Given the description of an element on the screen output the (x, y) to click on. 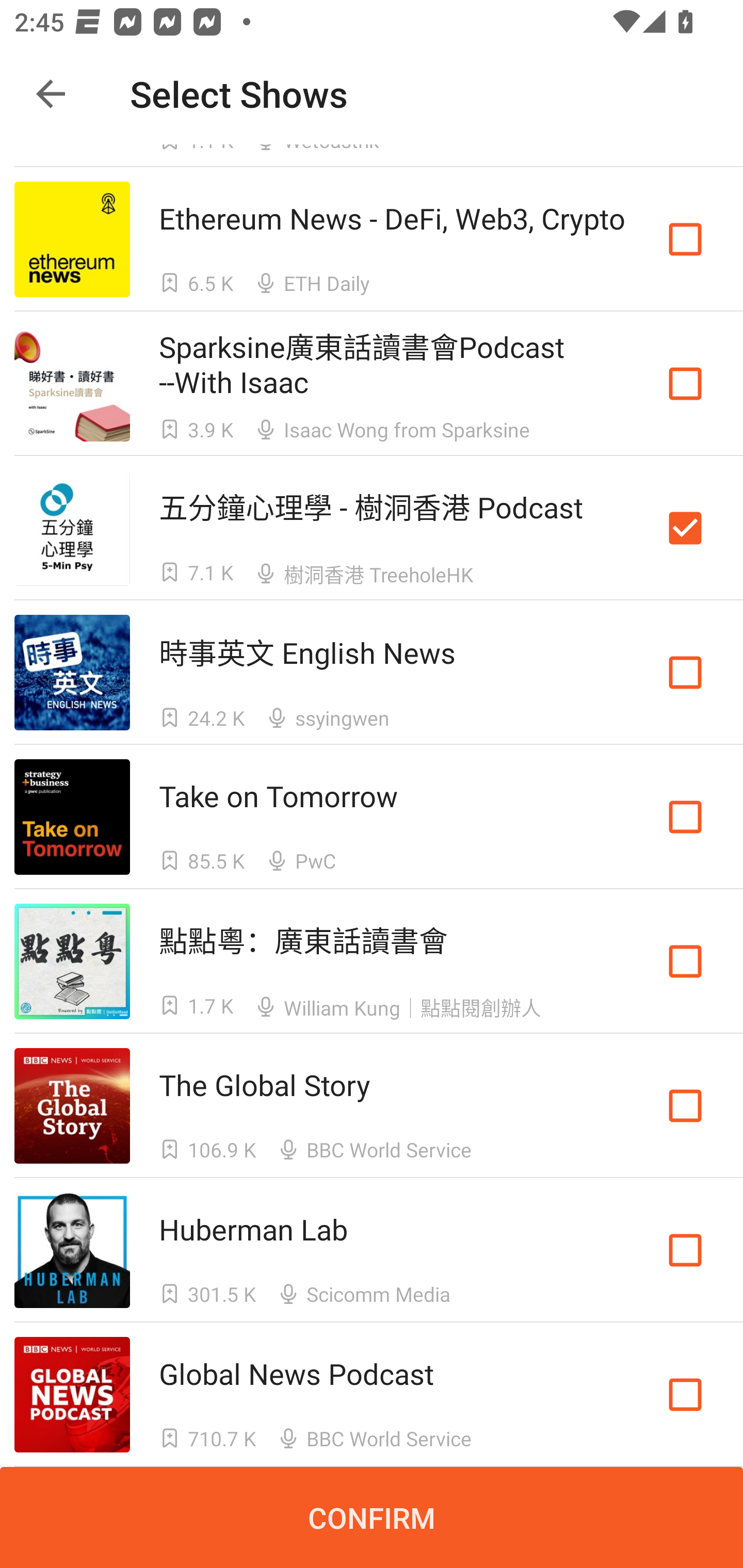
Navigate up (50, 93)
Take on Tomorrow Take on Tomorrow  85.5 K  PwC (371, 816)
CONFIRM (371, 1517)
